Given the description of an element on the screen output the (x, y) to click on. 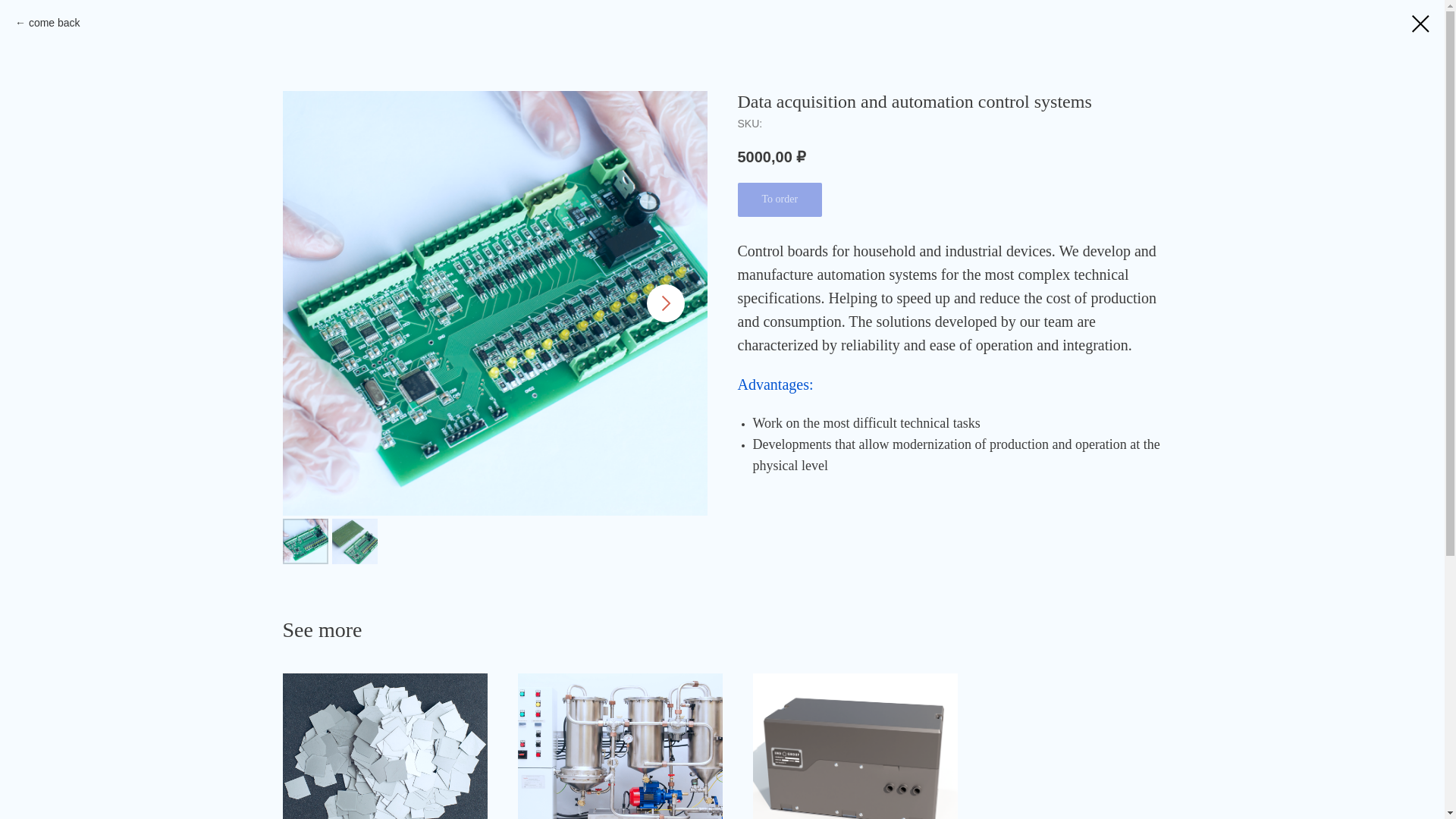
come back (47, 23)
To order (779, 199)
